Given the description of an element on the screen output the (x, y) to click on. 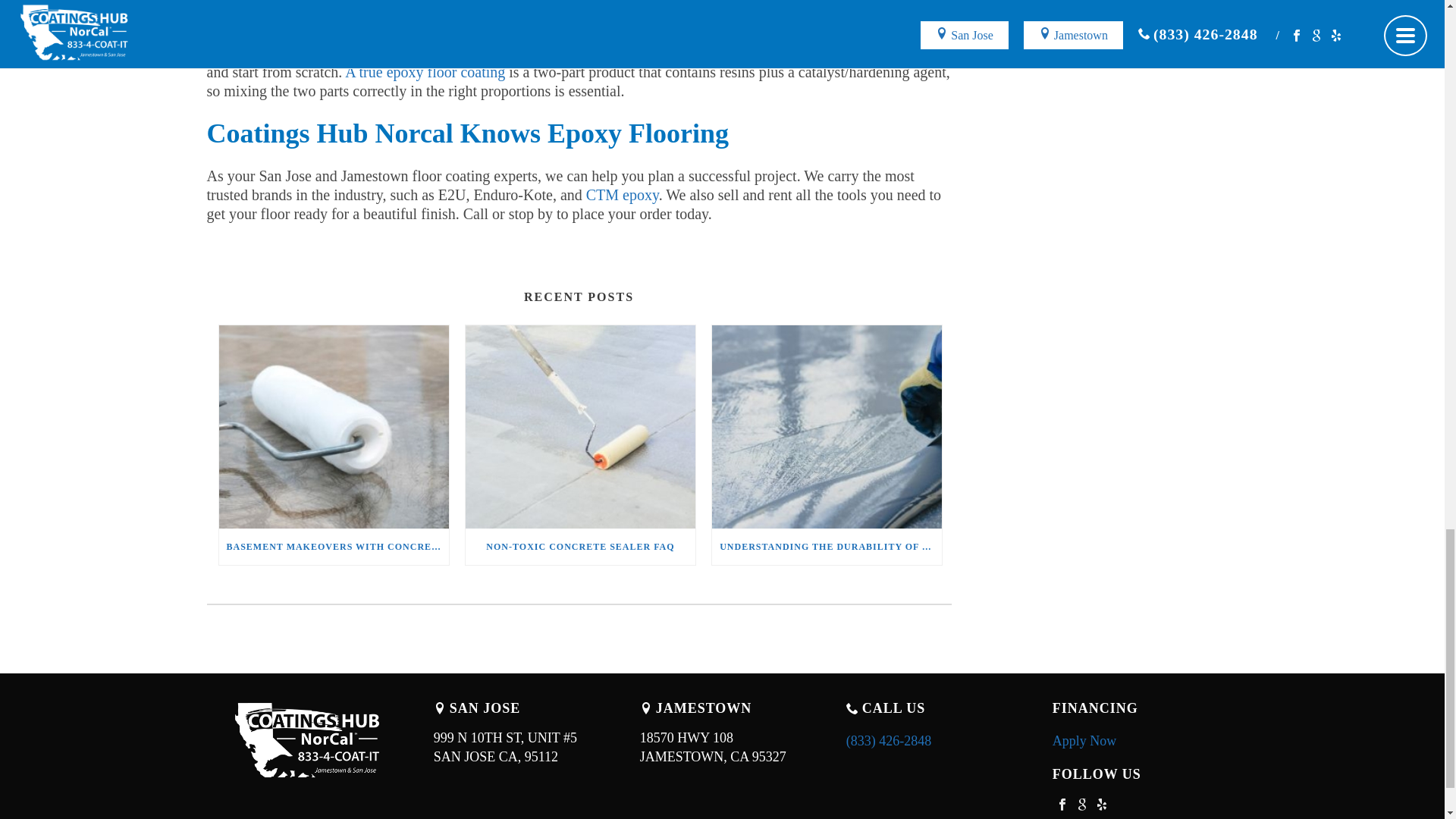
Coatings Hub NorCal (310, 742)
BASEMENT MAKEOVERS WITH CONCRETE STAINS (333, 546)
Non-Toxic Concrete Sealer FAQ (580, 426)
CTM epoxy (722, 747)
NON-TOXIC CONCRETE SEALER FAQ (622, 194)
Understanding The Durability Of Epoxy For Garage Floors (580, 546)
Basement Makeovers With Concrete Stains (826, 426)
UNDERSTANDING THE DURABILITY OF EPOXY FOR GARAGE FLOORS (333, 426)
A true epoxy floor coating (826, 546)
Apply Now (425, 71)
